Given the description of an element on the screen output the (x, y) to click on. 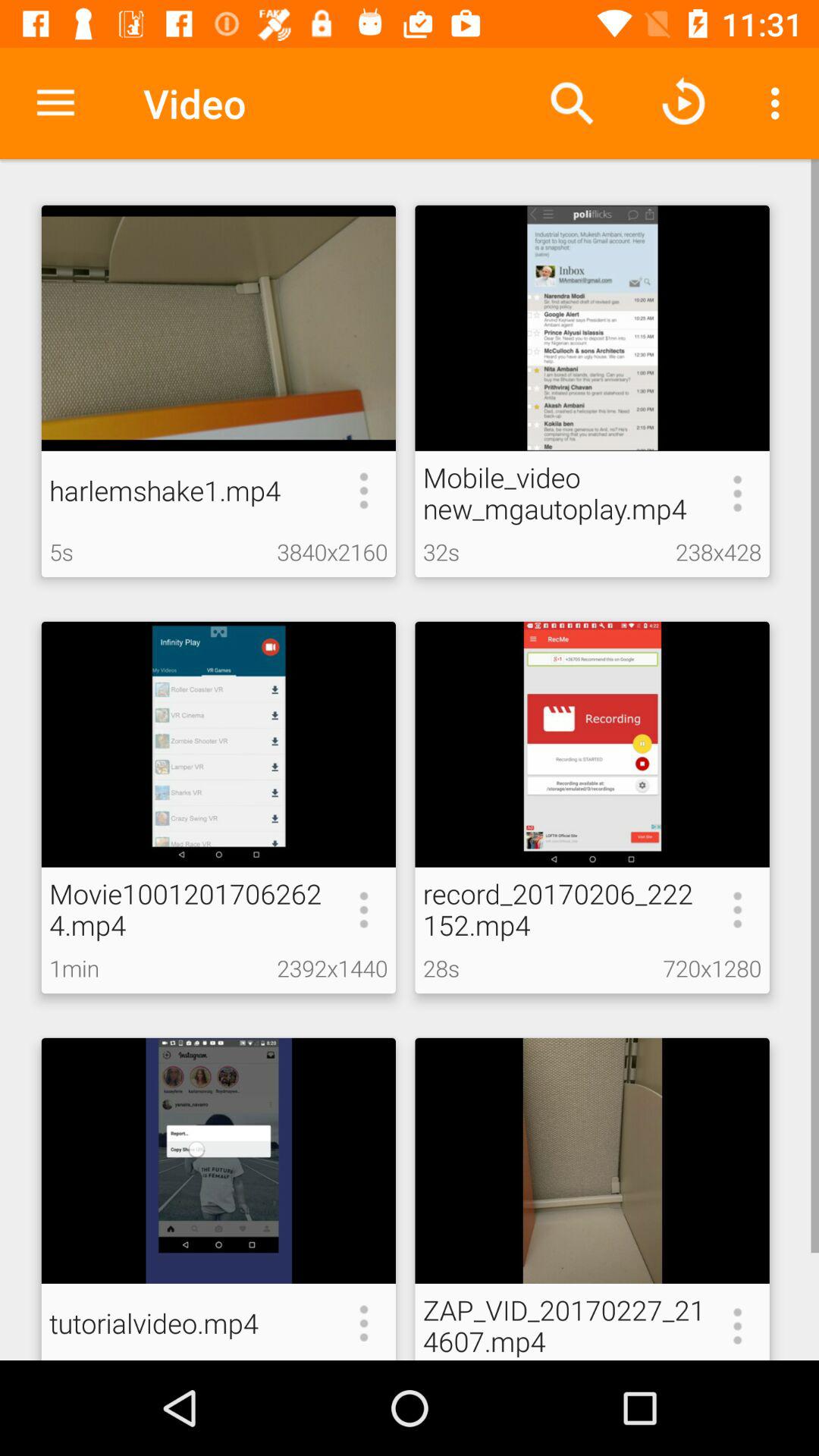
tap the icon next to video icon (571, 103)
